Given the description of an element on the screen output the (x, y) to click on. 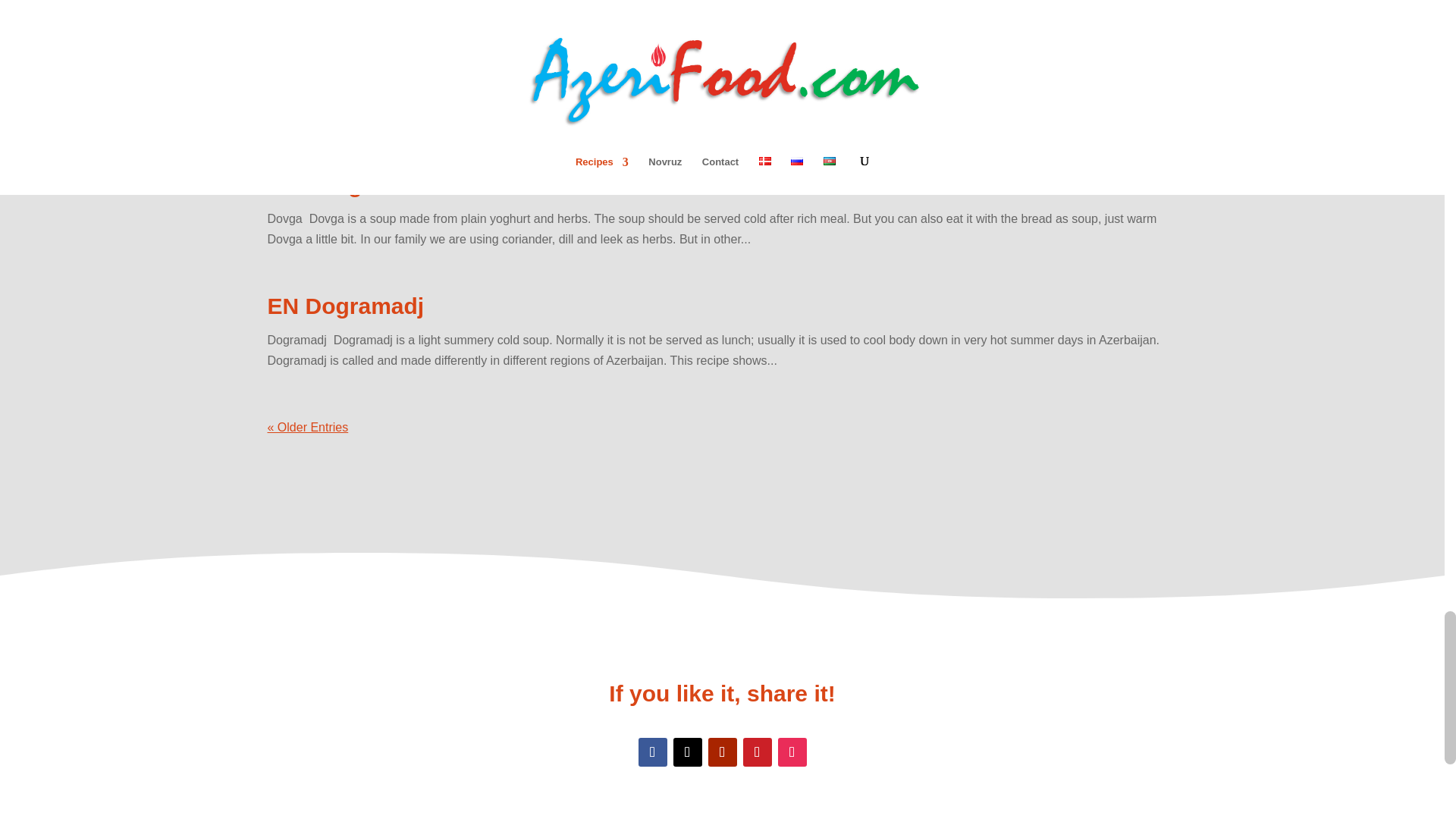
Follow on Youtube (721, 751)
Follow on Pinterest (756, 751)
Follow on X (686, 751)
Follow on Instagram (791, 751)
Follow on Facebook (652, 751)
